Given the description of an element on the screen output the (x, y) to click on. 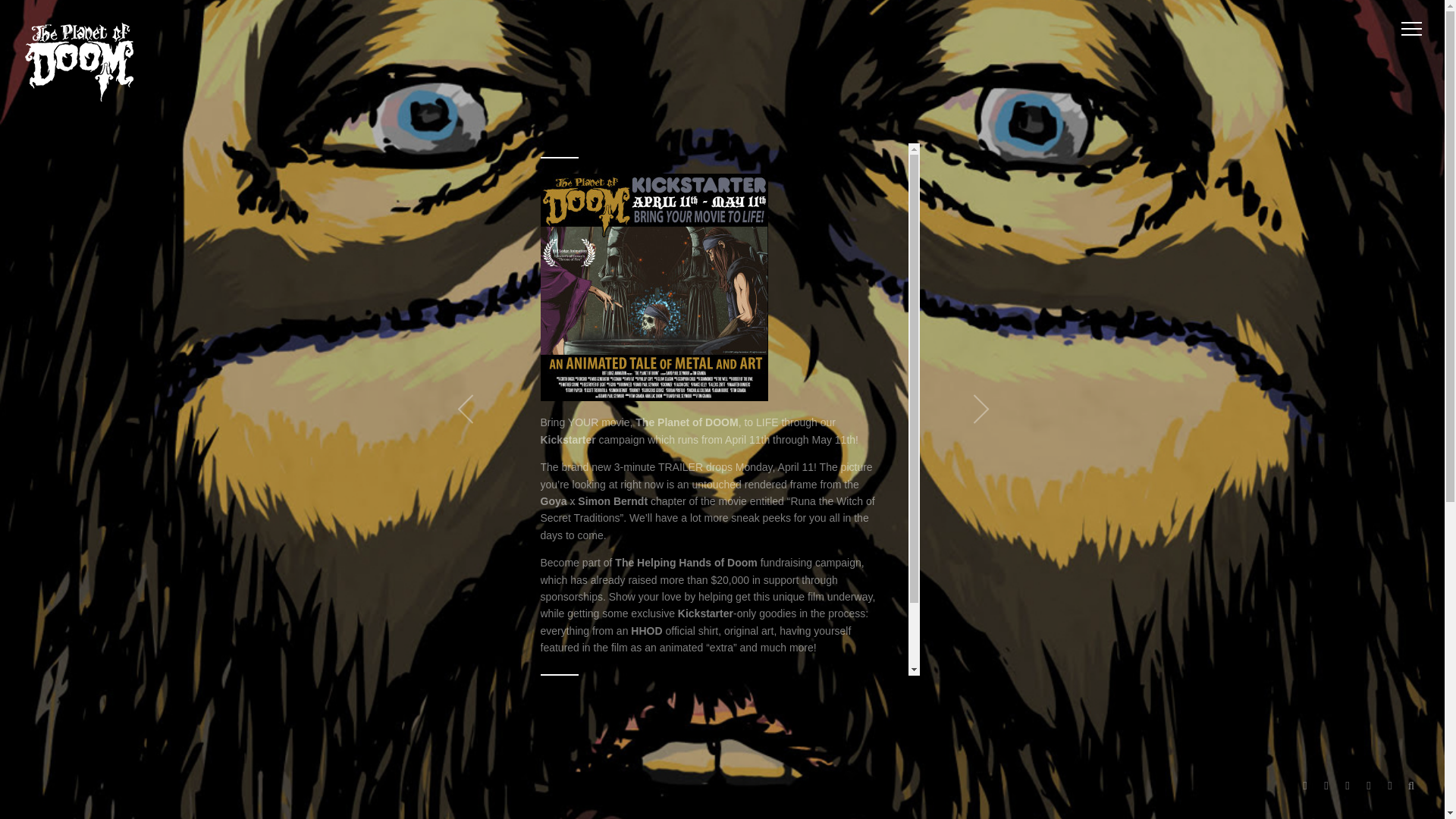
KICKSTARTER (631, 727)
VIDEOS (951, 787)
STONER ROCK (765, 727)
THE HELPING HANDS OF DOOM (698, 733)
THE PLANET OF DOOM (664, 740)
ARTISTS (1039, 787)
HEAVY METAL (568, 727)
CHOPPERS (753, 713)
GOYA (855, 713)
FILMMAKERS (1096, 787)
SPONSORS (1159, 787)
BANDS (994, 787)
SIMON BERNDT (698, 727)
NEWS (726, 699)
AN ANIMATED TALE OF METAL AND ART (644, 713)
